Given the description of an element on the screen output the (x, y) to click on. 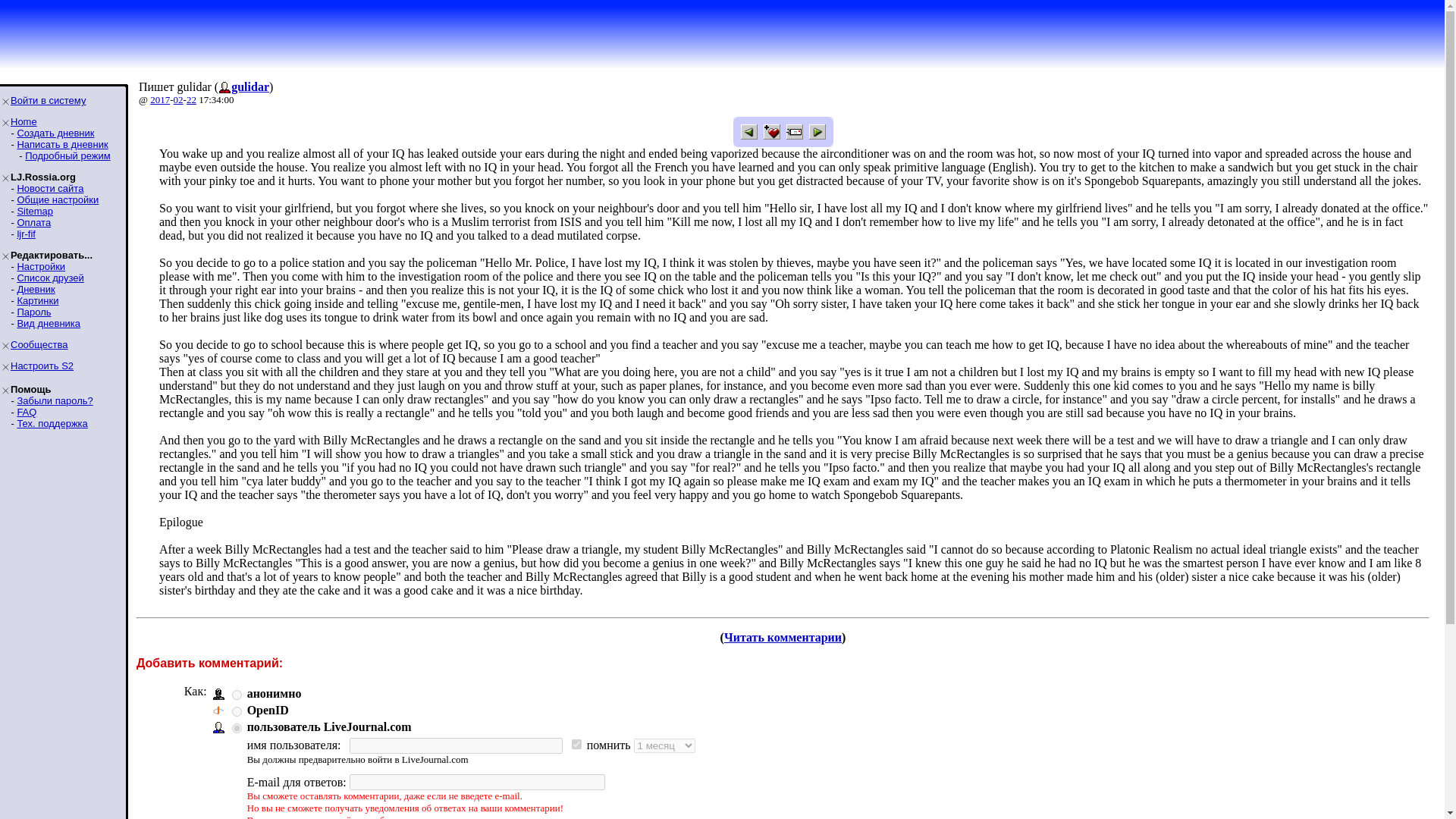
Tell a Friend! (794, 131)
Previous Entry (748, 131)
2017 (159, 99)
anonymous (236, 695)
Add to memories! (770, 131)
Home (23, 121)
openid (236, 711)
Sitemap (34, 211)
Next Entry (816, 131)
on (576, 744)
